Given the description of an element on the screen output the (x, y) to click on. 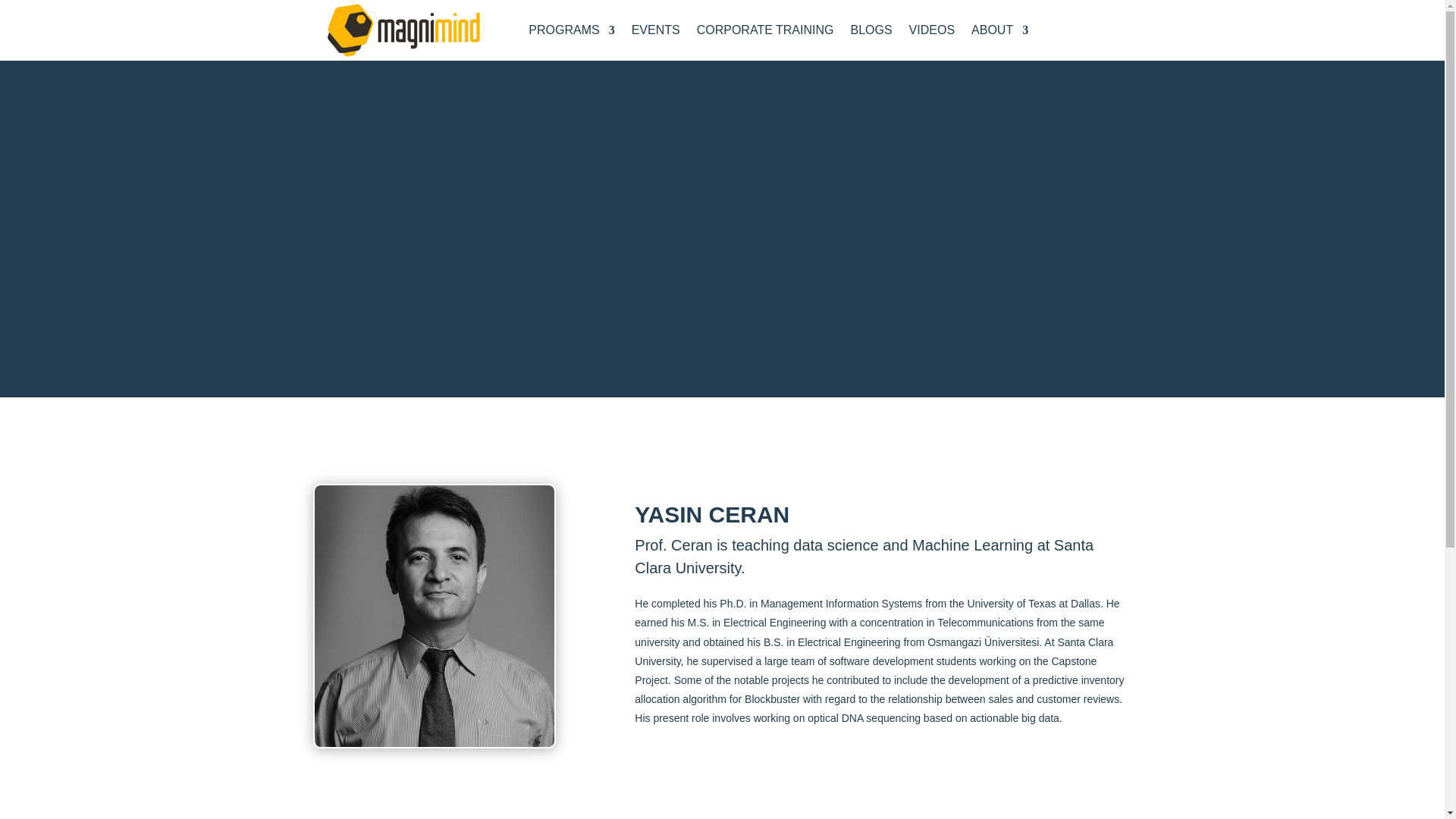
yasin-ceran (433, 615)
Log in (1081, 30)
VIDEOS (931, 33)
BLOGS (870, 33)
CORPORATE TRAINING (765, 33)
Magnmind (403, 30)
ABOUT (999, 33)
PROGRAMS (571, 33)
EVENTS (655, 33)
